Given the description of an element on the screen output the (x, y) to click on. 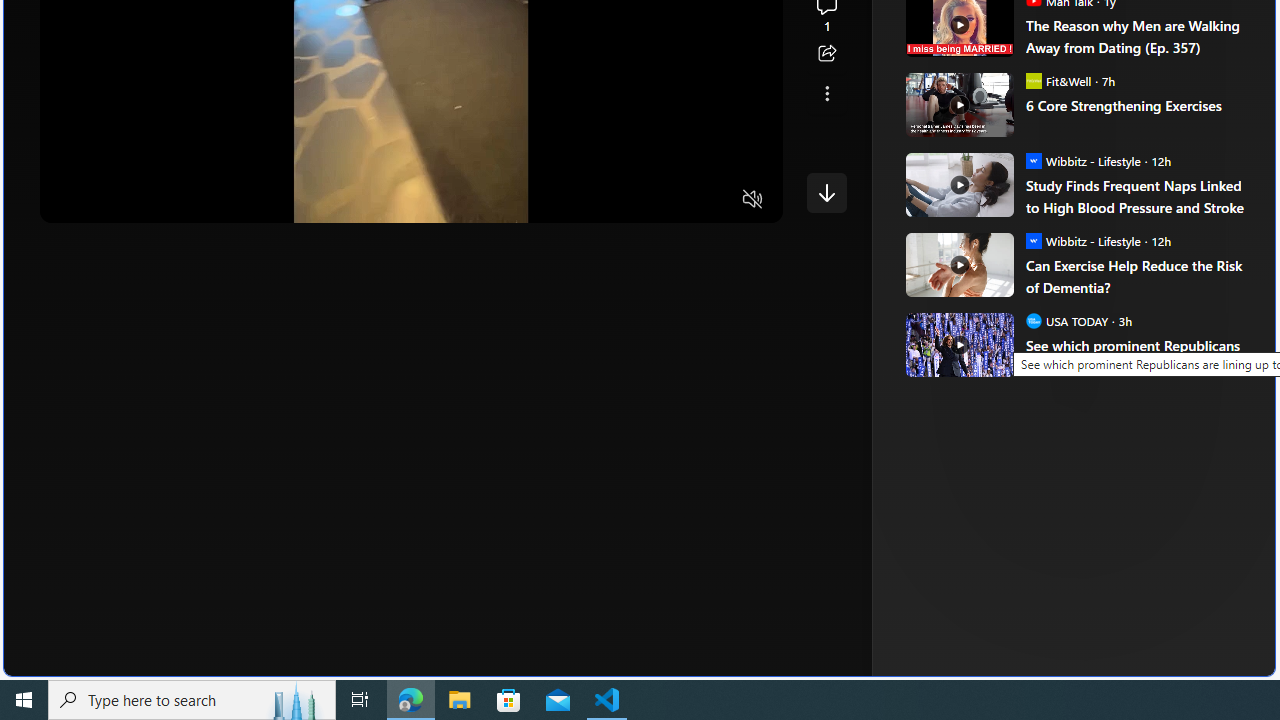
Progress Bar (411, 174)
Pause (69, 200)
Share this story (826, 53)
Captions (675, 200)
Can Exercise Help Reduce the Risk of Dementia? (958, 263)
USA TODAY USA TODAY (1066, 320)
Seek Forward (150, 200)
ABC News (974, 12)
